Given the description of an element on the screen output the (x, y) to click on. 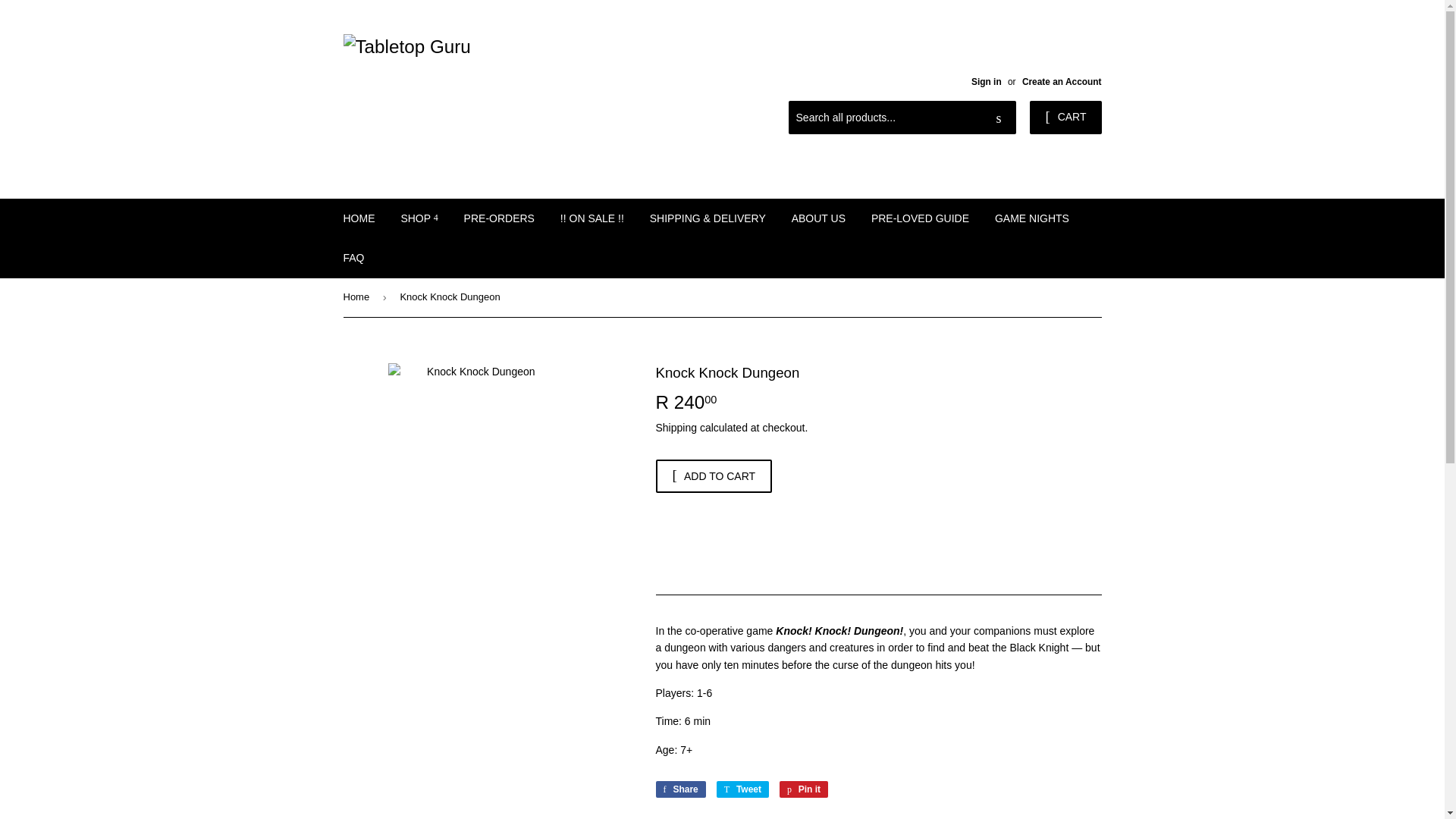
Tweet on Twitter (742, 789)
Create an Account (1062, 81)
SHOP (418, 218)
CART (1064, 117)
Sign in (986, 81)
Share on Facebook (679, 789)
Pin on Pinterest (803, 789)
Search (998, 118)
HOME (359, 218)
